Given the description of an element on the screen output the (x, y) to click on. 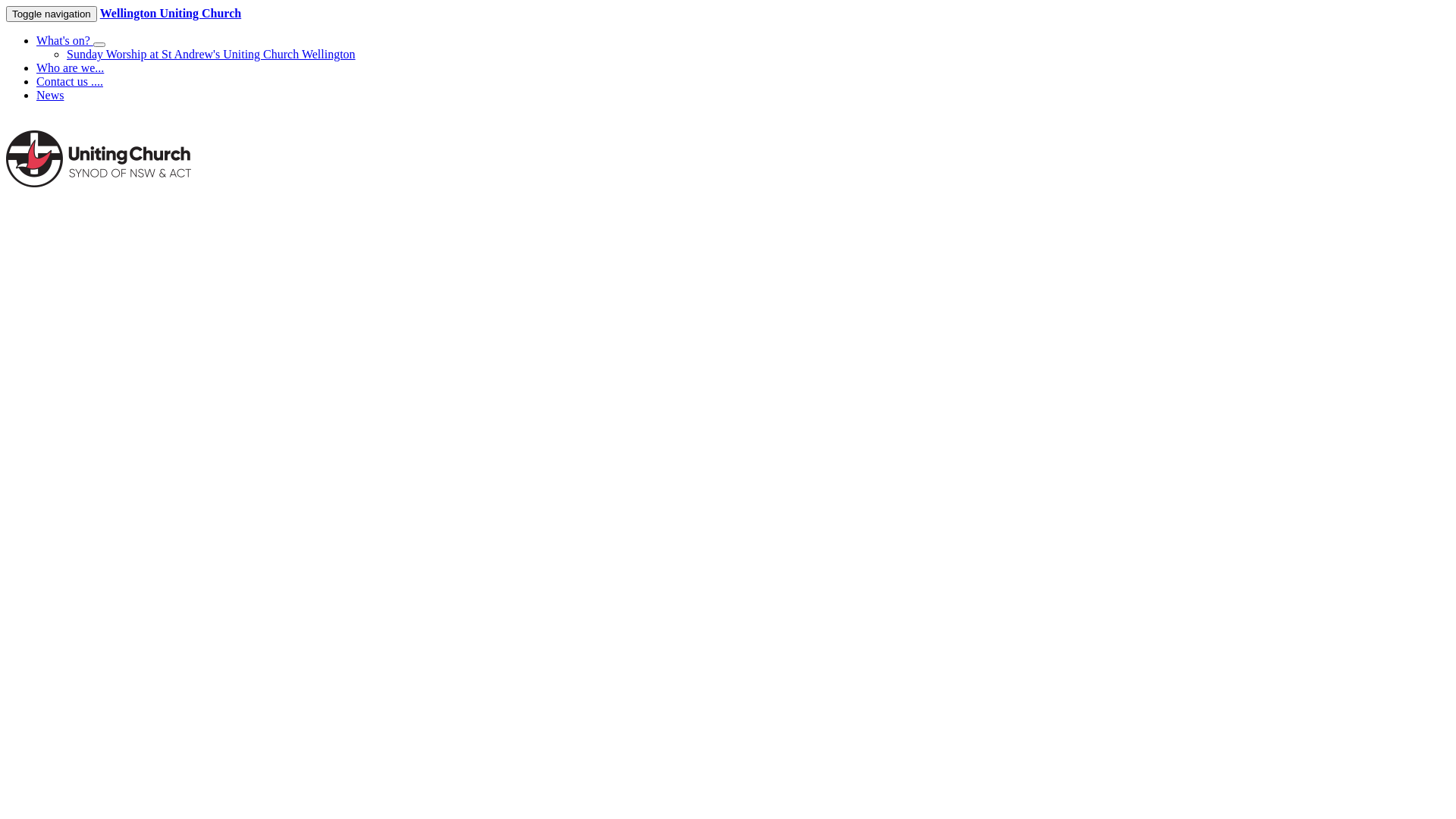
Who are we... Element type: text (69, 67)
Toggle navigation Element type: text (51, 13)
What's on? Element type: text (64, 40)
Wellington Uniting Church Element type: text (170, 12)
News Element type: text (49, 94)
Contact us .... Element type: text (69, 81)
Sunday Worship at St Andrew's Uniting Church Wellington Element type: text (210, 53)
